Given the description of an element on the screen output the (x, y) to click on. 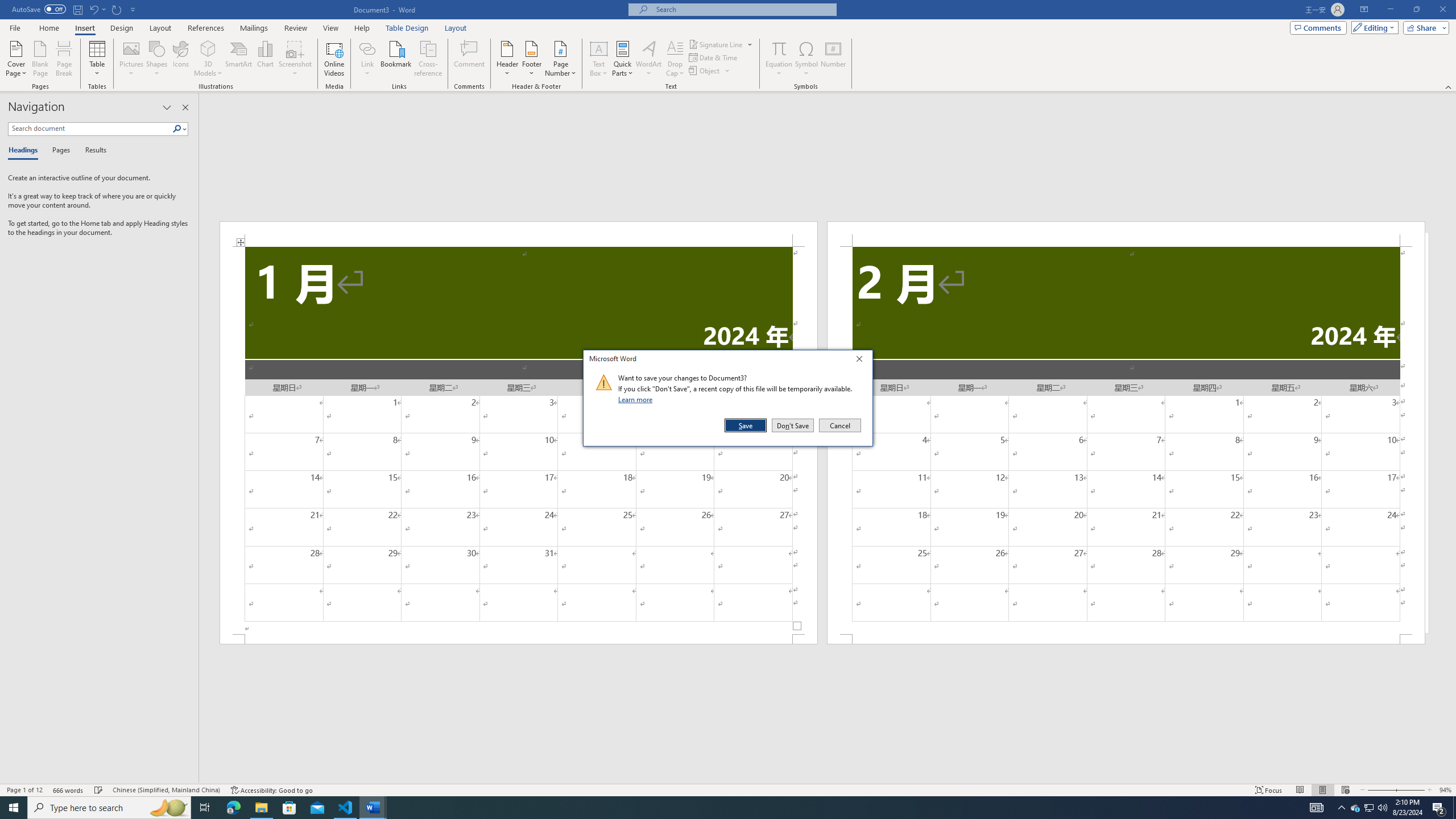
Text Box (598, 58)
Learn more (636, 399)
Drop Cap (674, 58)
Signature Line (721, 44)
Don't Save (792, 425)
Icons (180, 58)
